Given the description of an element on the screen output the (x, y) to click on. 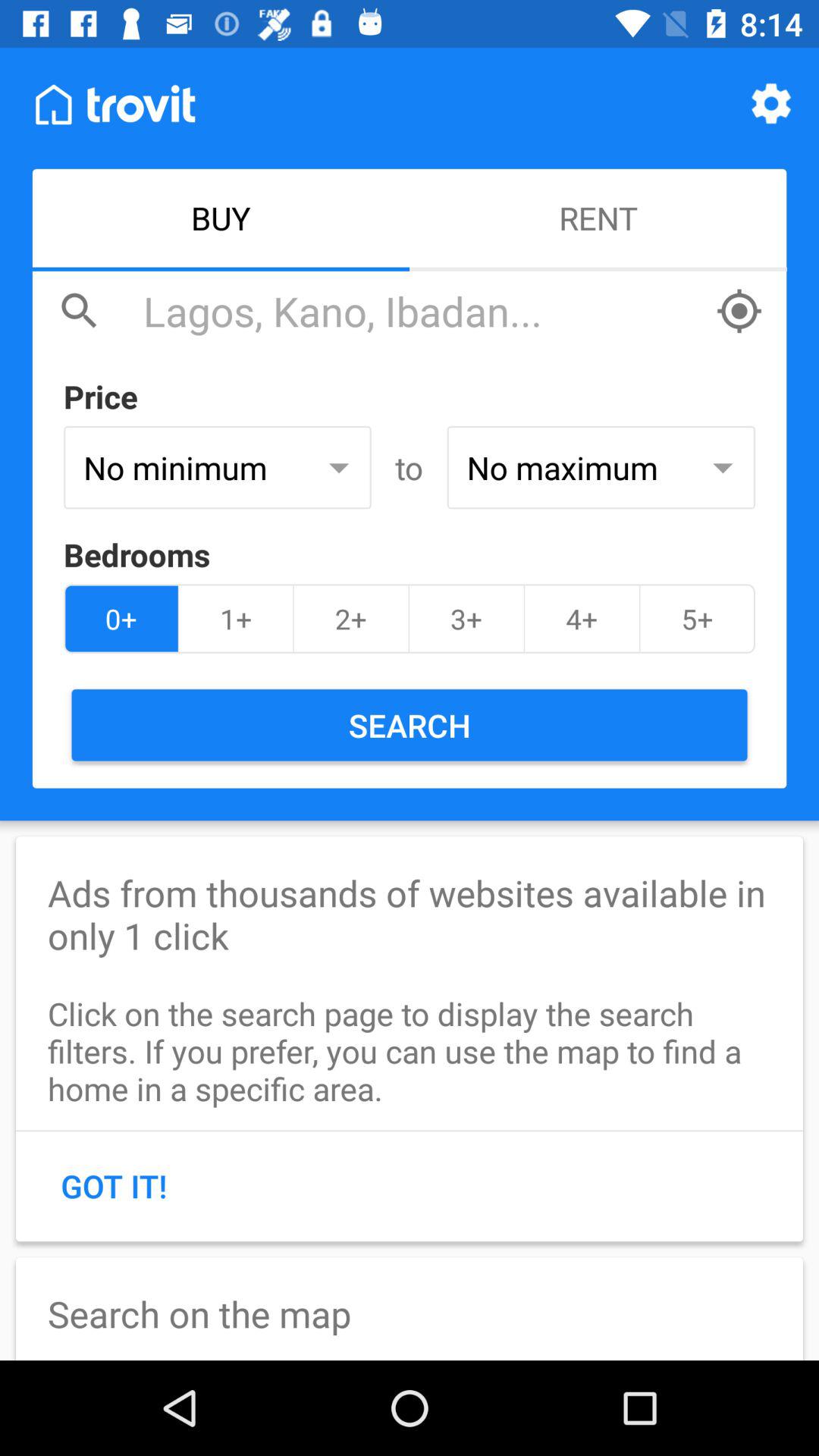
choose icon below the bedrooms icon (697, 618)
